Given the description of an element on the screen output the (x, y) to click on. 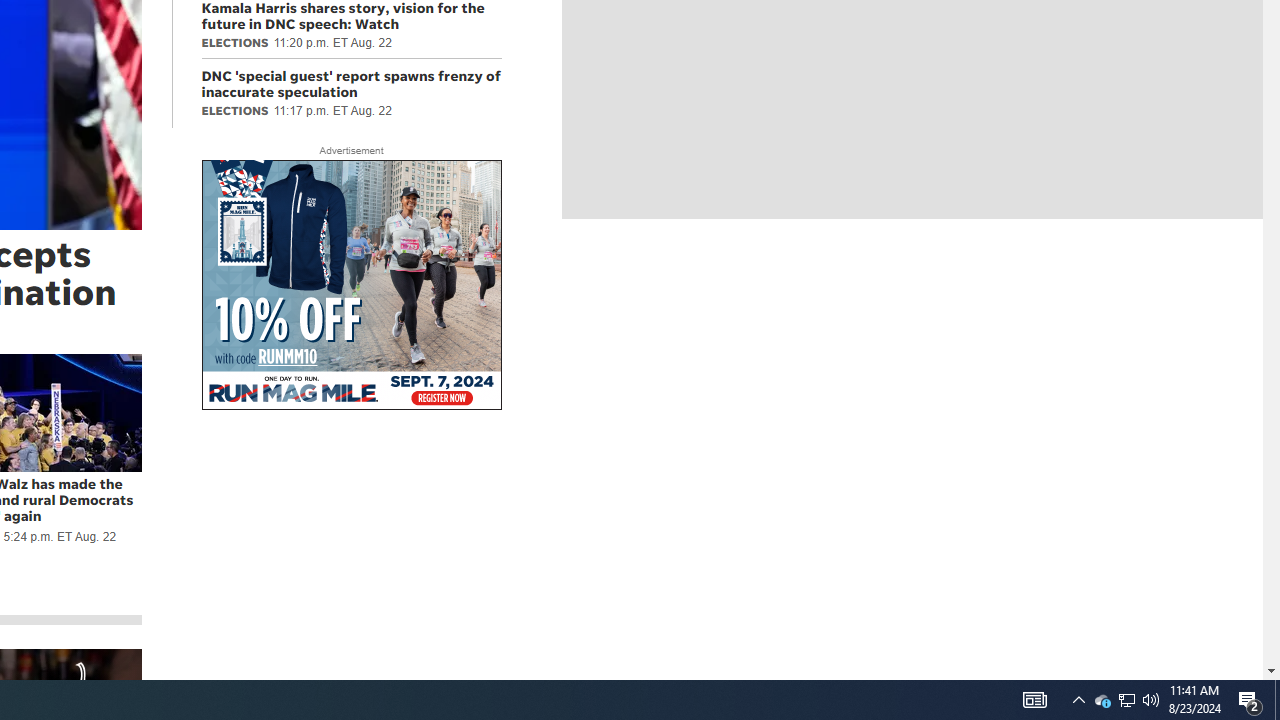
AutomationID: aw0 (350, 286)
